Given the description of an element on the screen output the (x, y) to click on. 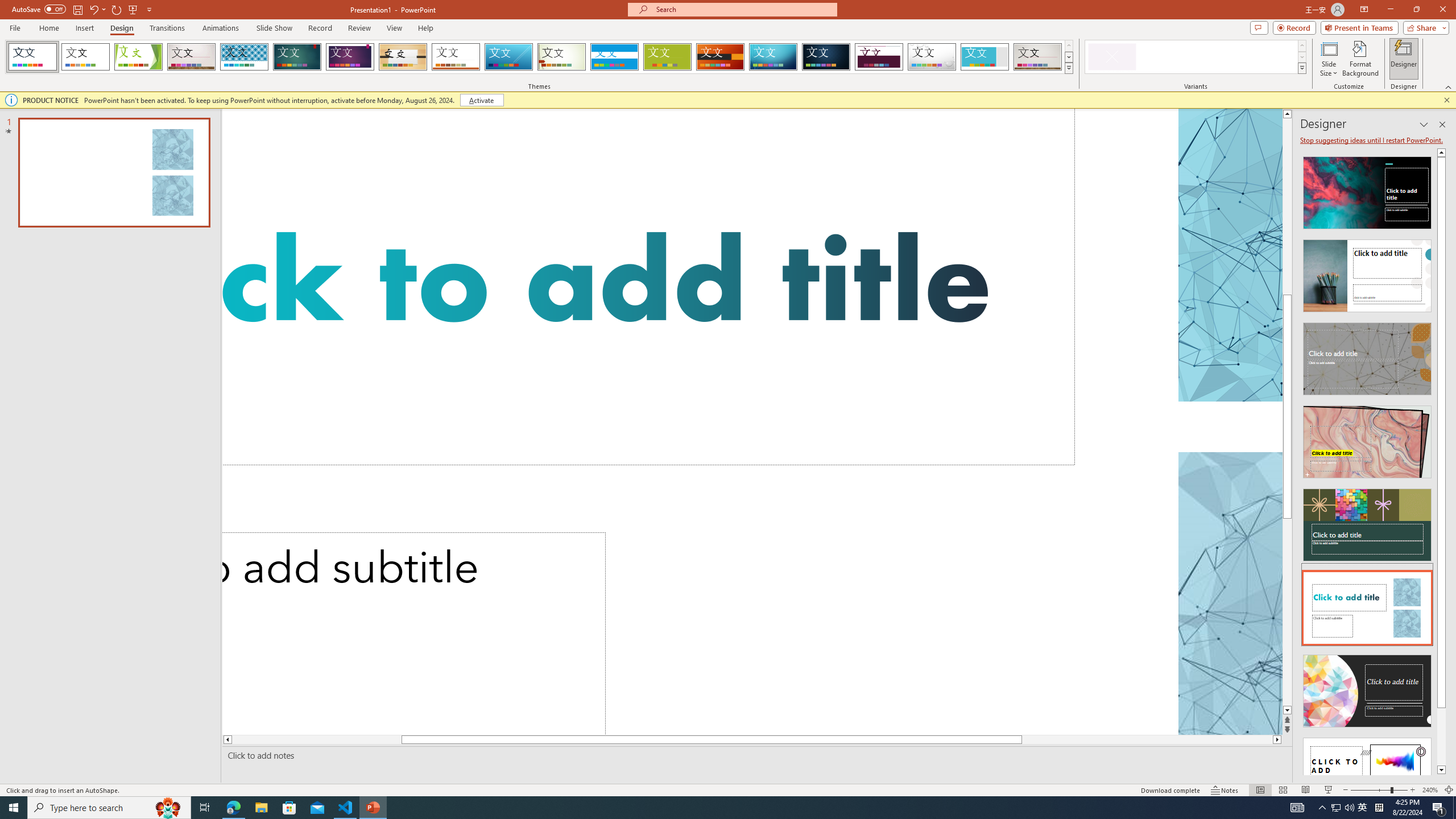
AutomationID: ThemeVariantsGallery (1195, 56)
Frame (984, 56)
Slice (508, 56)
Berlin (720, 56)
